Given the description of an element on the screen output the (x, y) to click on. 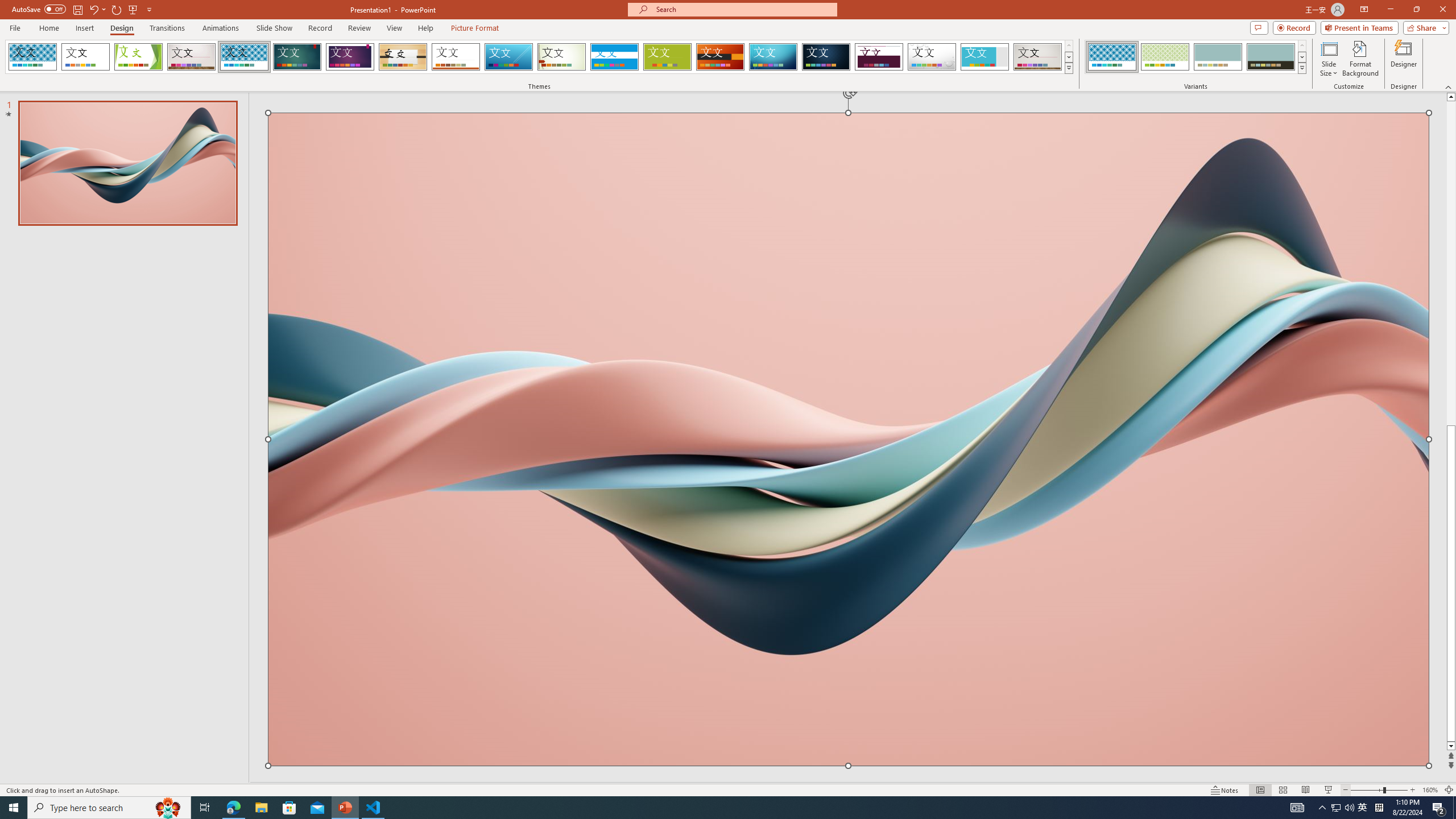
Banded (614, 56)
Retrospect (455, 56)
Slide Size (1328, 58)
